Given the description of an element on the screen output the (x, y) to click on. 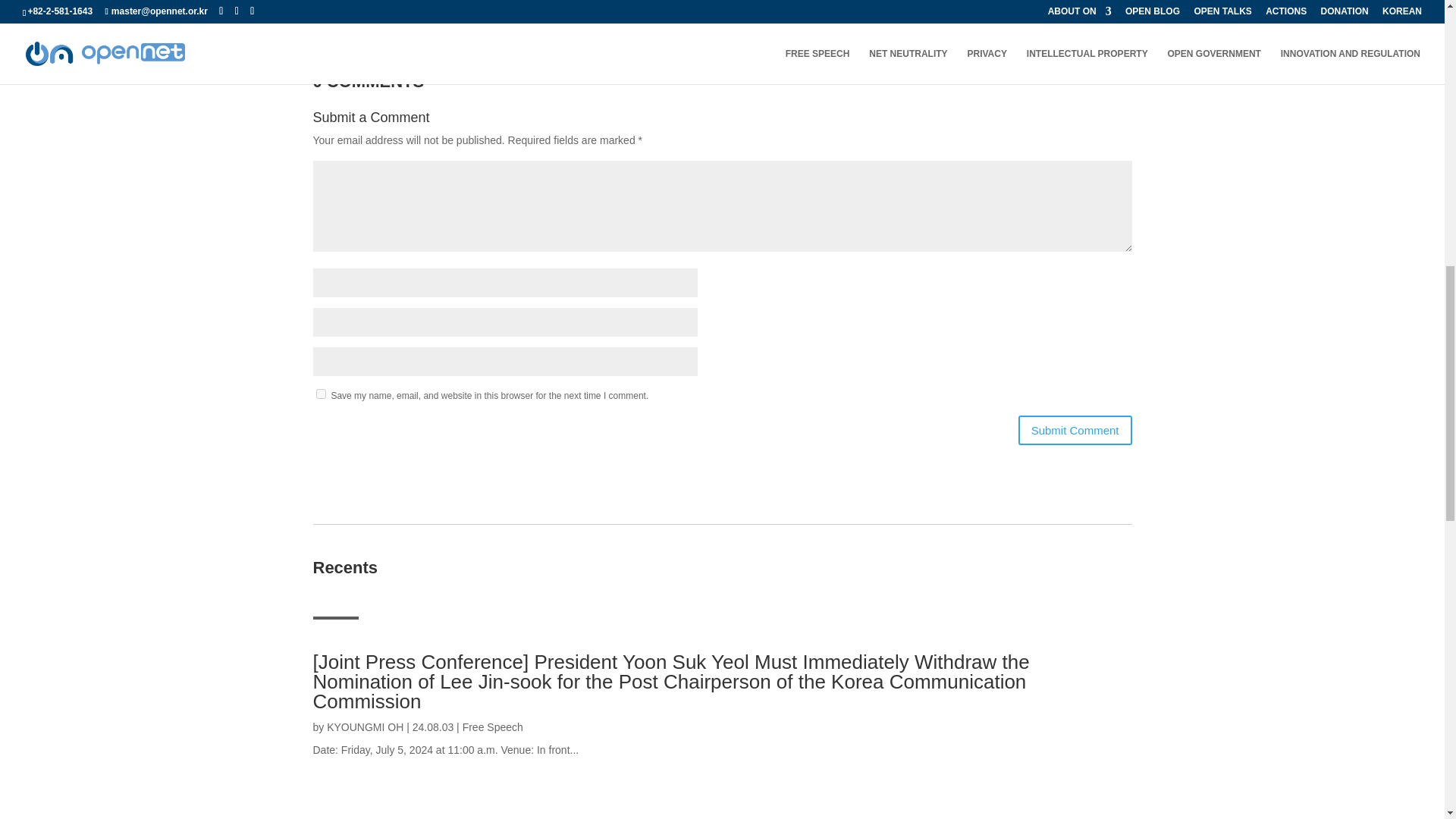
yes (319, 393)
Posts by KYOUNGMI OH (364, 727)
